Given the description of an element on the screen output the (x, y) to click on. 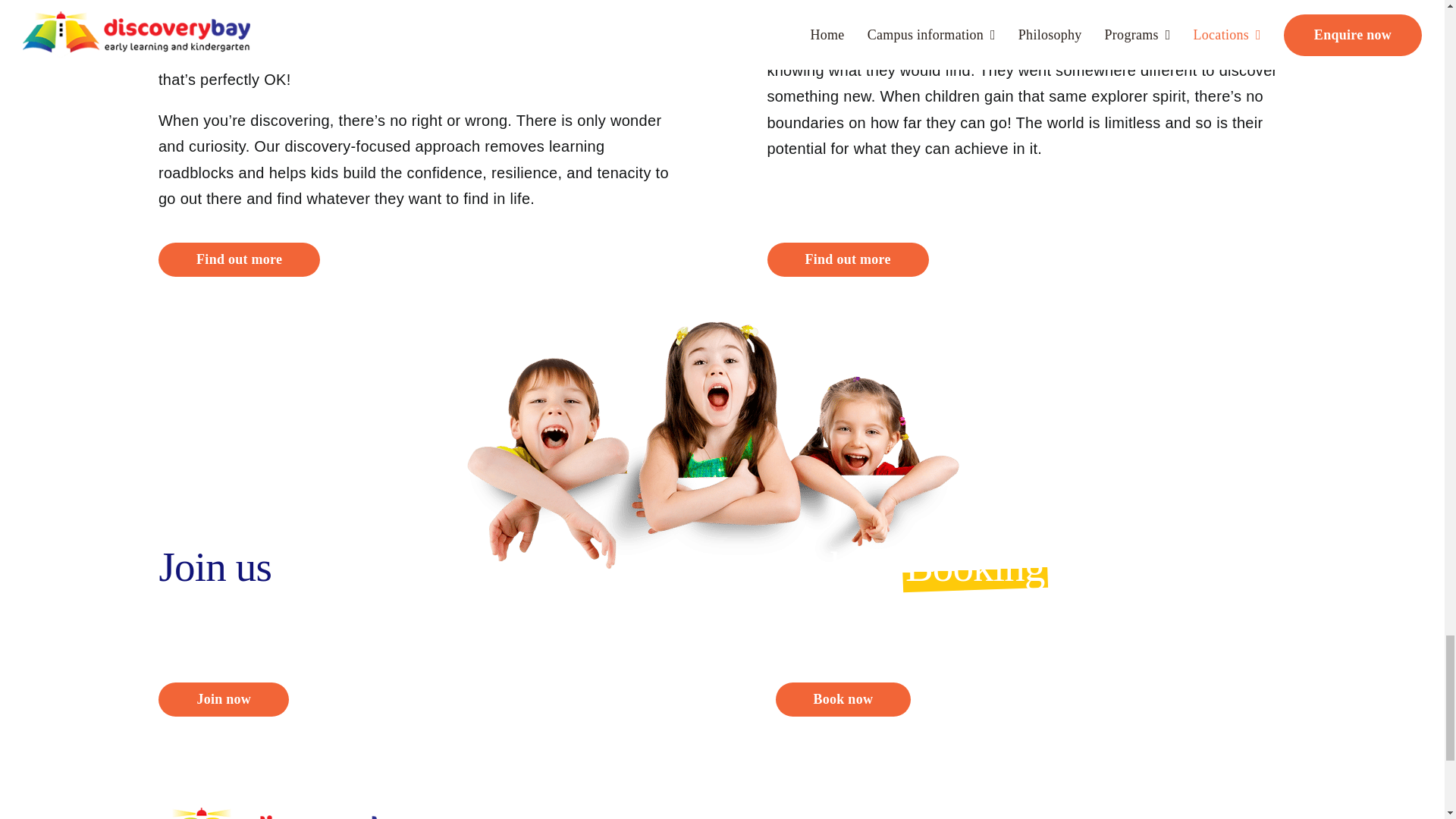
Book now (842, 699)
Find out more (847, 259)
Find out more (239, 259)
Join now (223, 699)
